Given the description of an element on the screen output the (x, y) to click on. 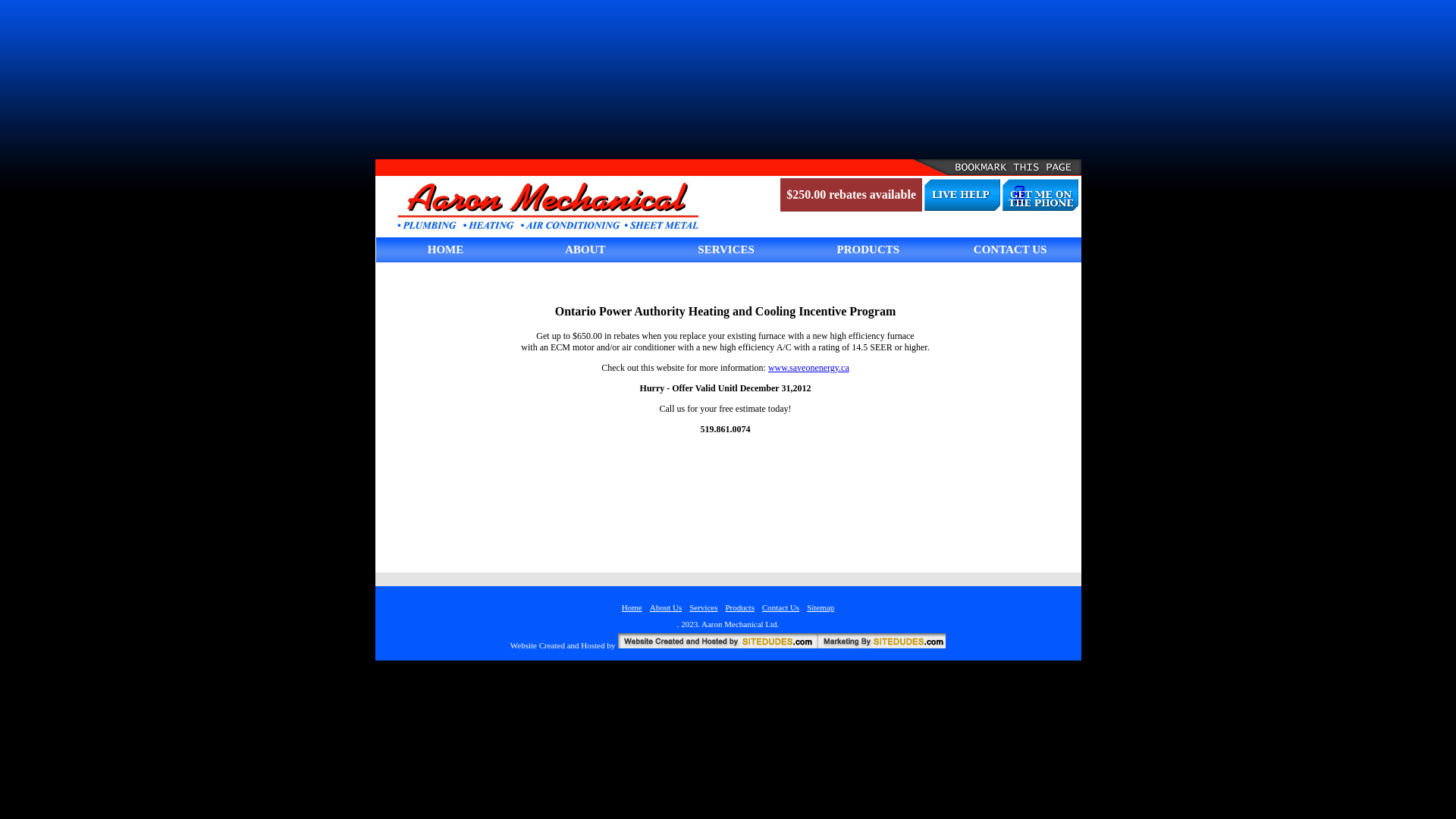
PRODUCTS Element type: text (868, 248)
$250.00 rebates available Element type: text (851, 194)
ABOUT Element type: text (584, 248)
CONTACT US Element type: text (1010, 248)
Home Element type: text (631, 606)
Contact Us Element type: text (780, 606)
SERVICES Element type: text (725, 248)
Services Element type: text (703, 606)
www.saveonenergy.ca Element type: text (808, 367)
Sitemap Element type: text (820, 606)
HOME Element type: text (445, 248)
Products Element type: text (739, 606)
About Us Element type: text (665, 606)
